Given the description of an element on the screen output the (x, y) to click on. 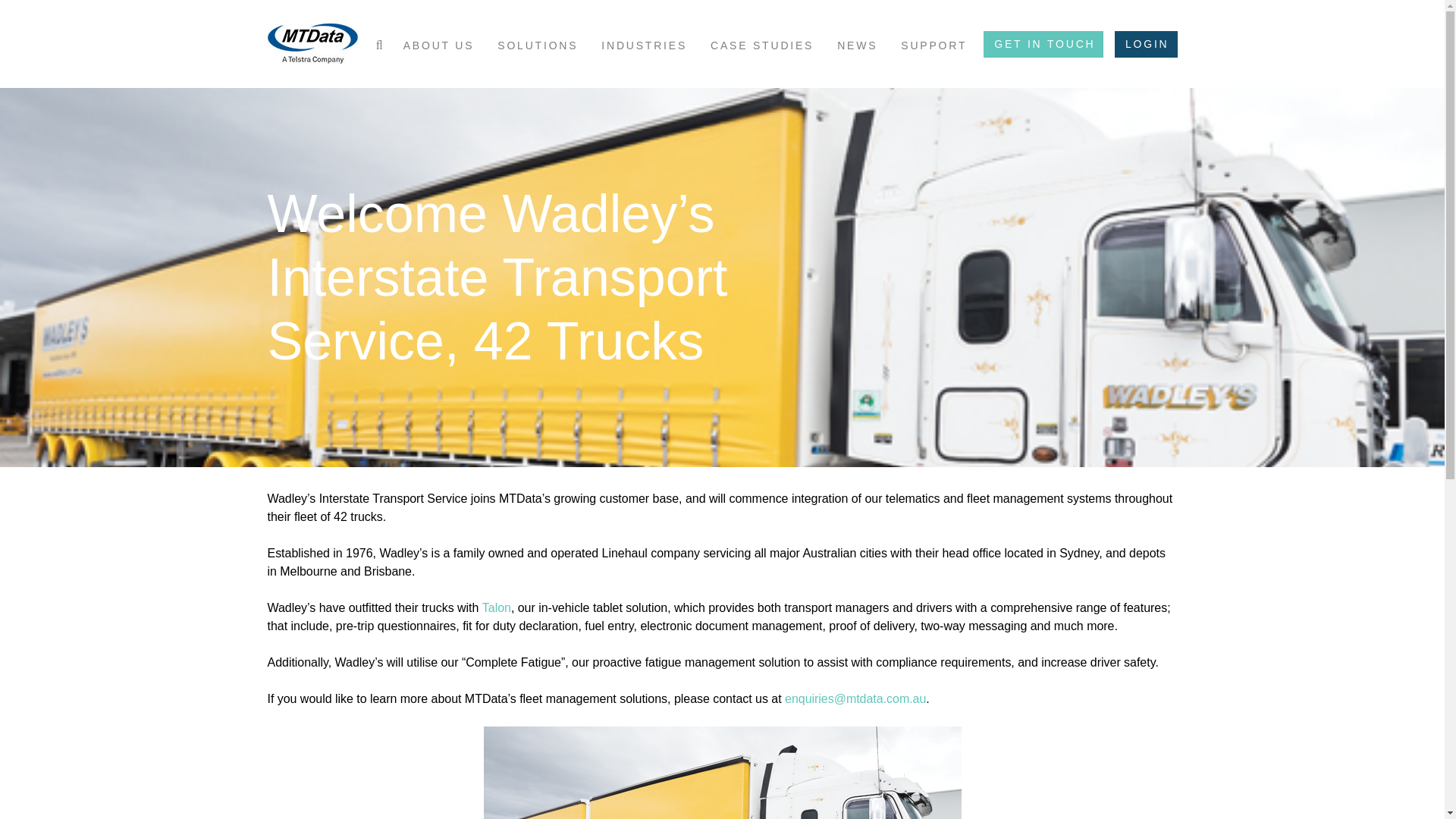
INDUSTRIES (644, 45)
Industries (644, 45)
NEWS (857, 45)
SOLUTIONS (537, 45)
SUPPORT (933, 45)
Solutions (537, 45)
CASE STUDIES (761, 45)
About Us (438, 45)
LOGIN (1146, 44)
News (857, 45)
